Given the description of an element on the screen output the (x, y) to click on. 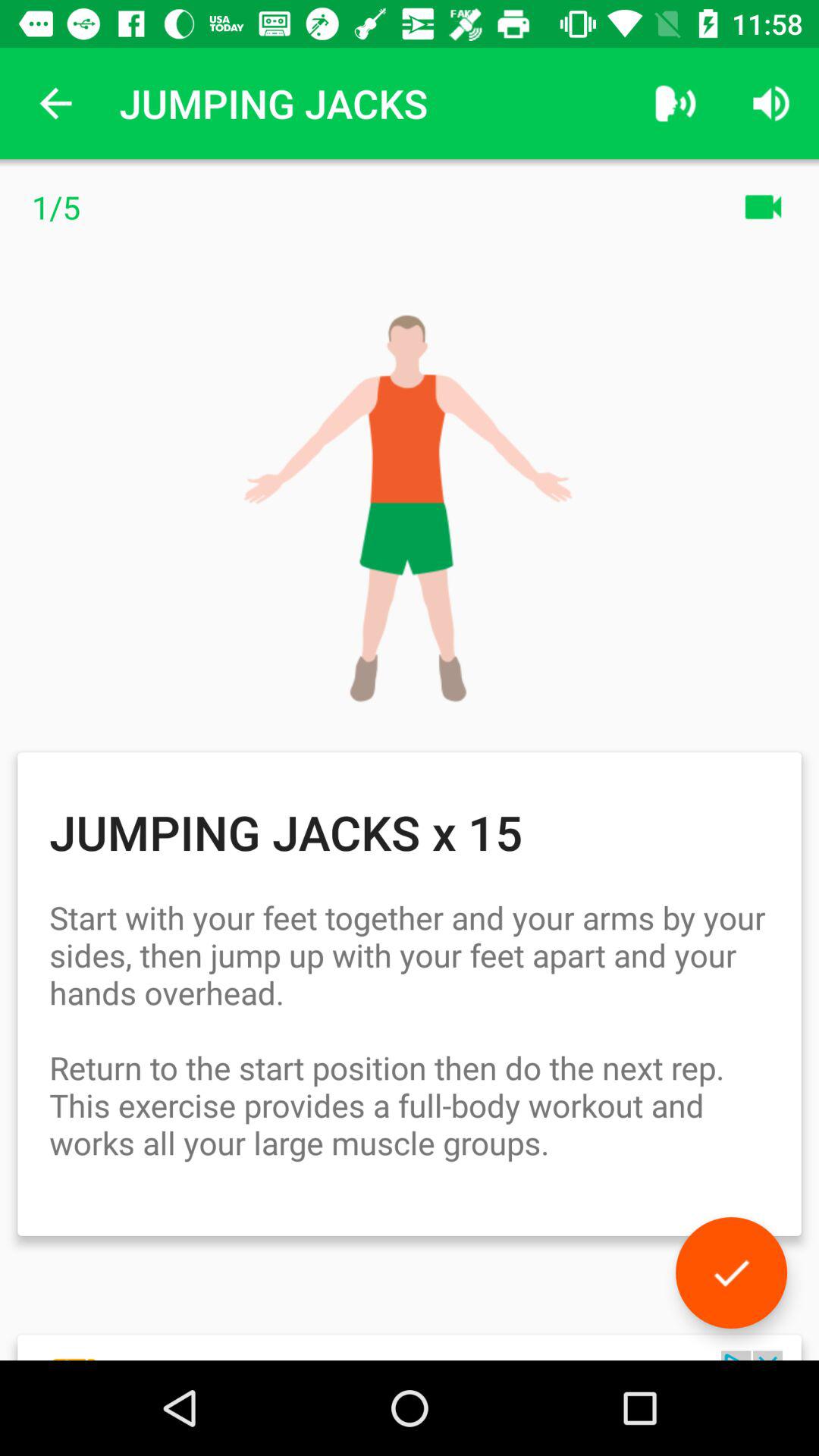
open app to the right of jumping jacks (675, 103)
